Given the description of an element on the screen output the (x, y) to click on. 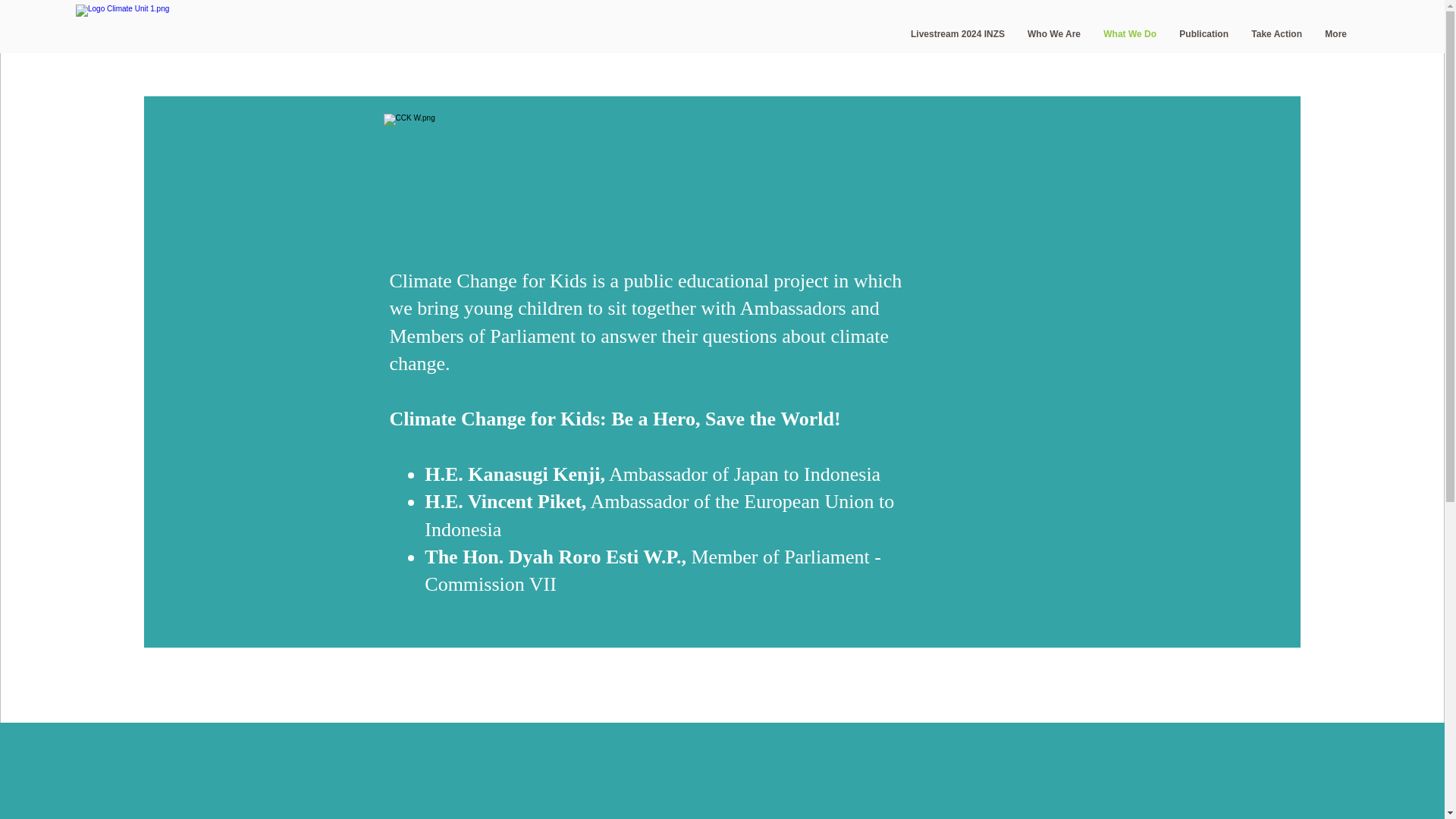
What We Do (1129, 34)
Livestream 2024 INZS (957, 34)
Who We Are (1054, 34)
Publication (1203, 34)
Take Action (1276, 34)
